Given the description of an element on the screen output the (x, y) to click on. 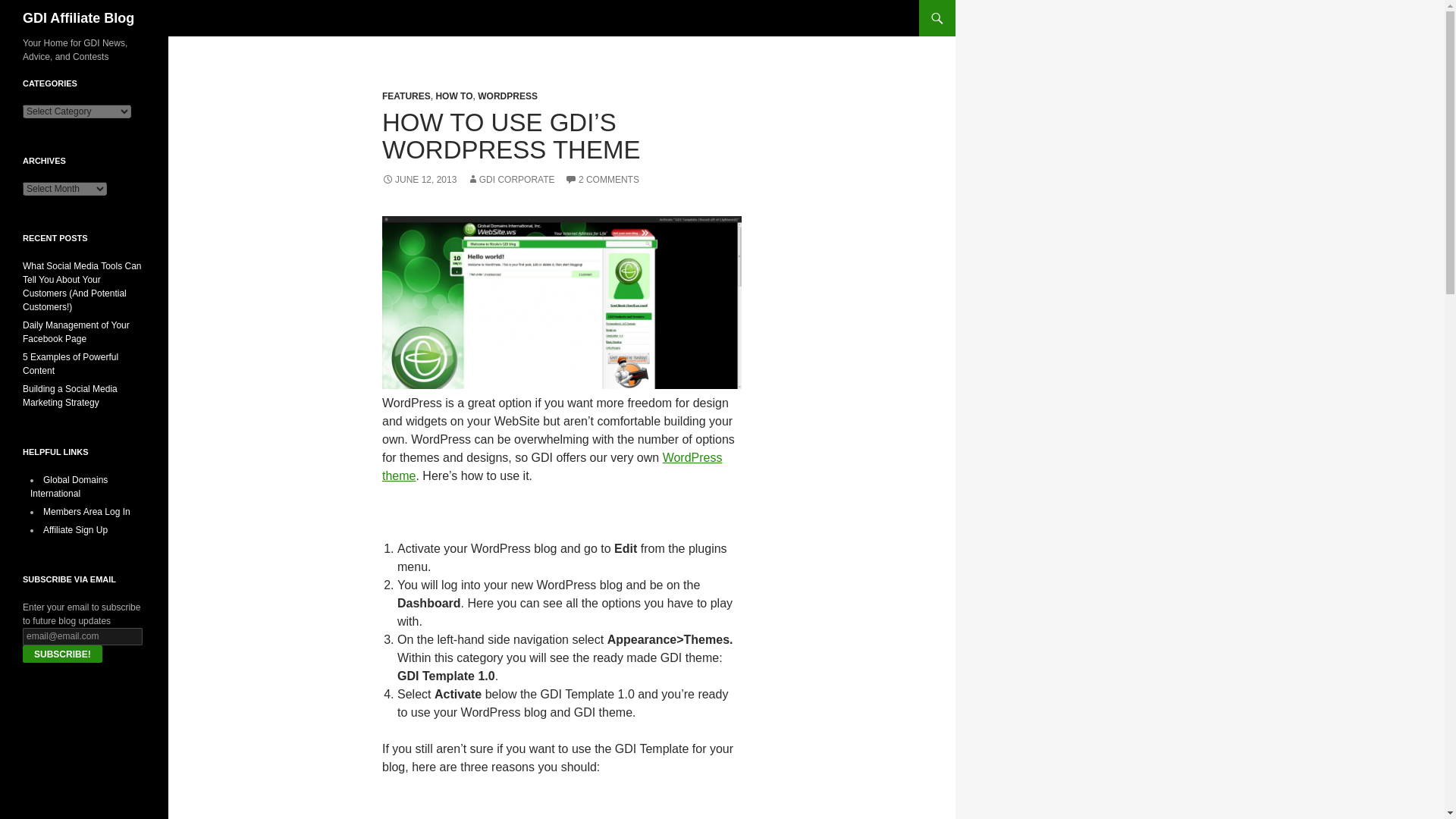
Building a Social Media Marketing Strategy (70, 395)
HOW TO (453, 95)
FEATURES (405, 95)
Affiliate Sign Up (75, 529)
Members Area Log In (87, 511)
5 Examples of Powerful Content (70, 363)
JUNE 12, 2013 (419, 179)
2 COMMENTS (601, 179)
WordPress theme (551, 466)
Subscribe! (62, 653)
GDI CORPORATE (510, 179)
WORDPRESS (507, 95)
Global Domains International (68, 486)
GDI Affiliate Blog (78, 18)
Daily Management of Your Facebook Page (76, 331)
